Given the description of an element on the screen output the (x, y) to click on. 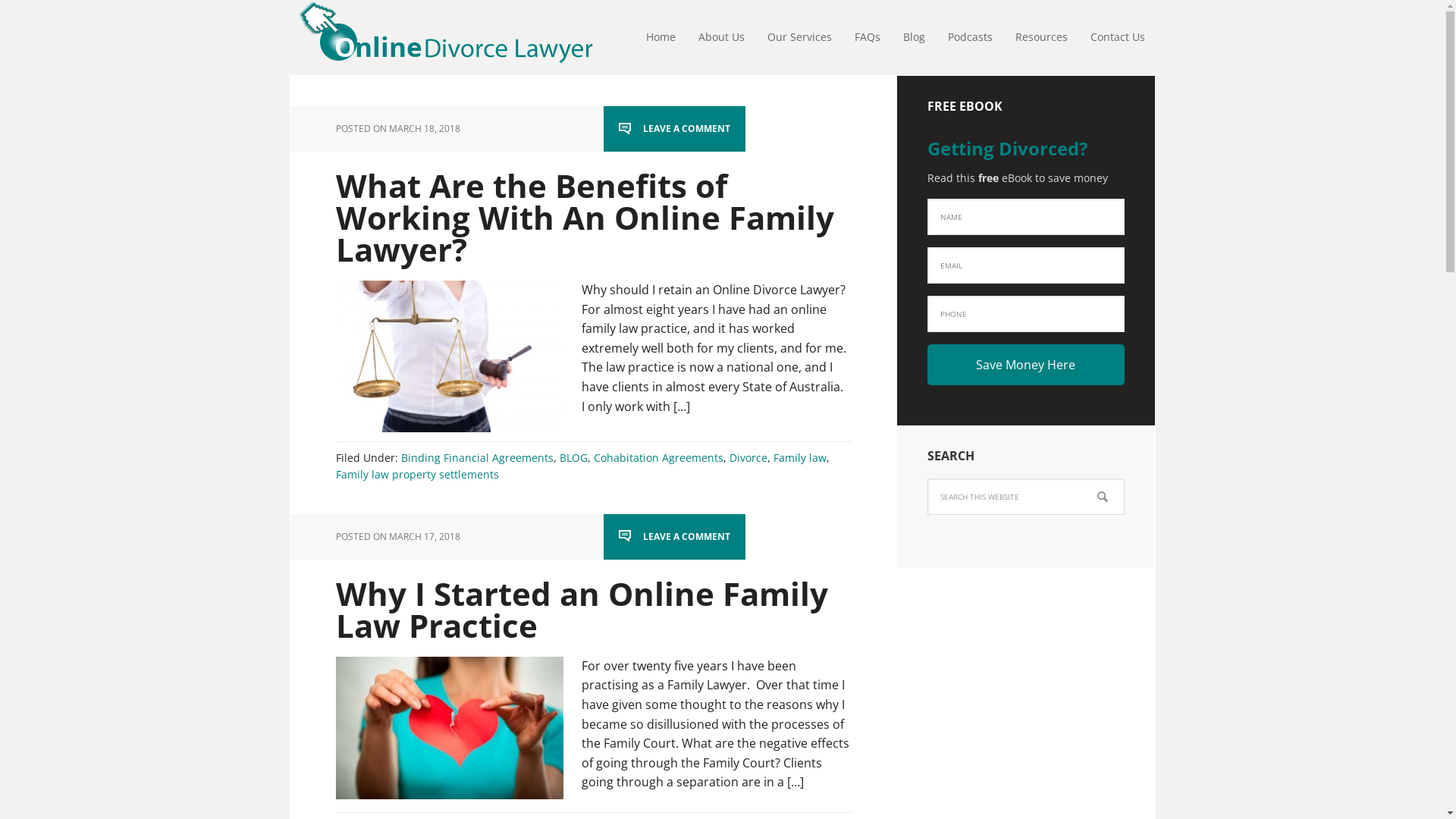
Contact Us Element type: text (1116, 37)
Home Element type: text (659, 37)
About Us Element type: text (721, 37)
BLOG Element type: text (573, 457)
Save Money Here Element type: text (1024, 364)
Family law property settlements Element type: text (416, 474)
LEAVE A COMMENT Element type: text (674, 128)
Podcasts Element type: text (969, 37)
Online Divorce Lawyer Element type: text (441, 37)
LEAVE A COMMENT Element type: text (674, 536)
Cohabitation Agreements Element type: text (657, 457)
FAQs Element type: text (867, 37)
Family law Element type: text (799, 457)
Resources Element type: text (1041, 37)
Divorce Element type: text (748, 457)
Our Services Element type: text (798, 37)
Search Element type: text (1123, 477)
Why I Started an Online Family Law Practice Element type: text (581, 608)
Blog Element type: text (914, 37)
Binding Financial Agreements Element type: text (476, 457)
